Given the description of an element on the screen output the (x, y) to click on. 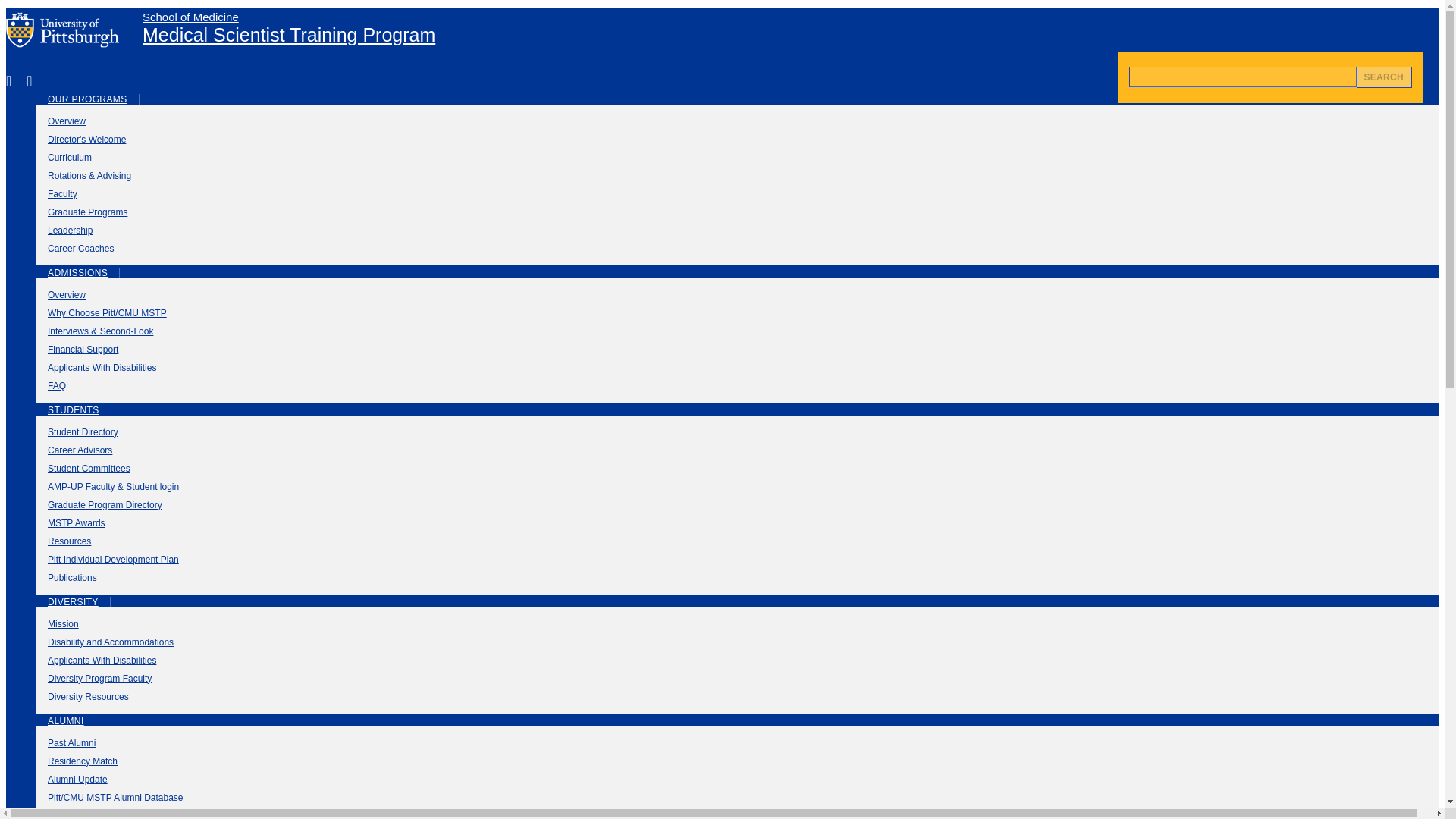
Overview (737, 121)
Director's Welcome (737, 139)
Financial Support (737, 349)
Diversity Program Faculty (737, 678)
Publications (737, 577)
diversity peoplw (737, 678)
Diversity Resources (737, 696)
Mission (737, 624)
FAQ (737, 385)
ADMISSIONS (77, 272)
